Given the description of an element on the screen output the (x, y) to click on. 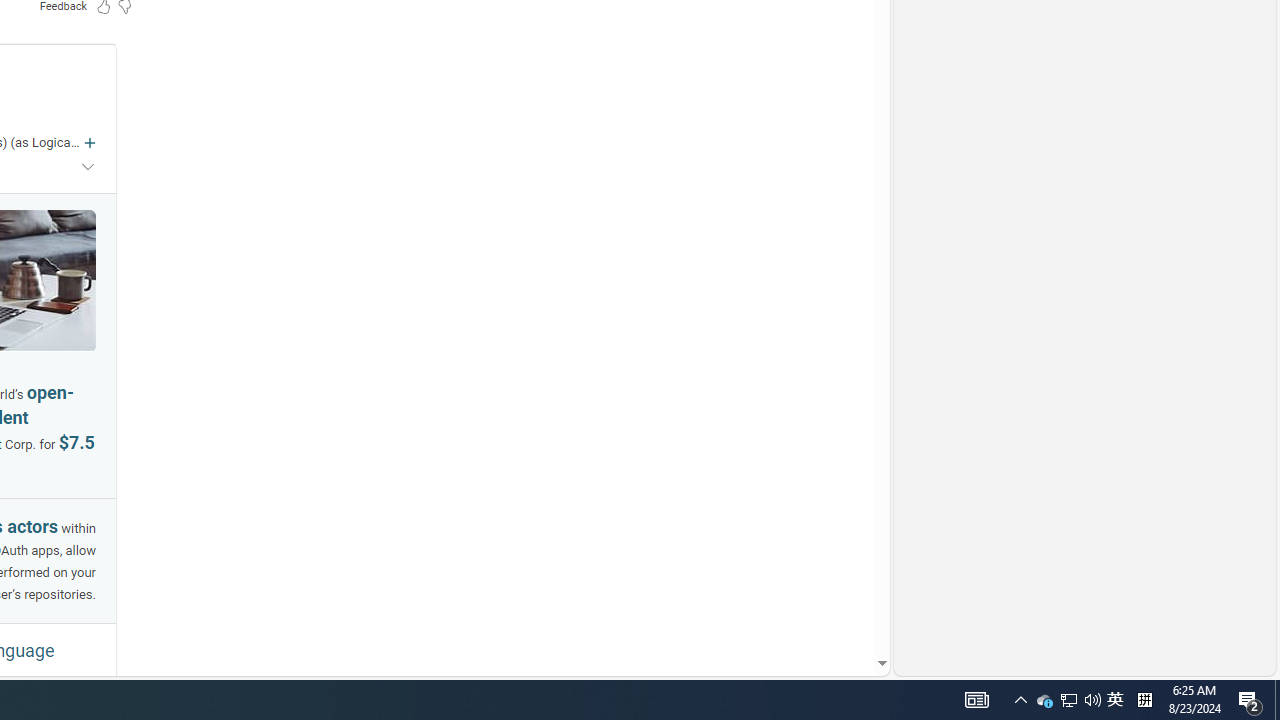
Search more (836, 604)
AutomationID: mfa_root (806, 603)
